Given the description of an element on the screen output the (x, y) to click on. 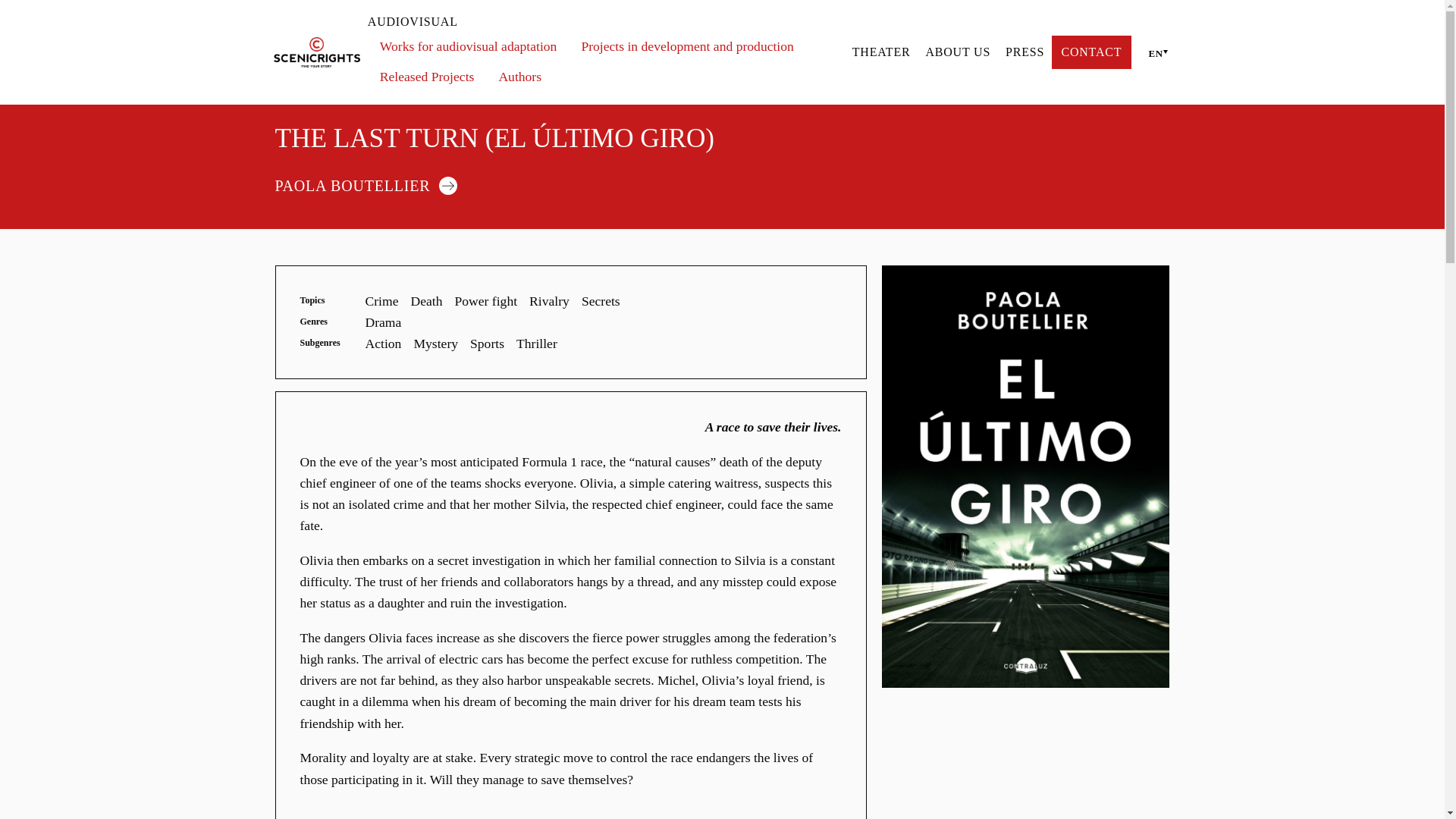
THEATER (881, 52)
PRESS (1024, 52)
AUDIOVISUAL (602, 21)
Released Projects (427, 77)
PAOLA BOUTELLIER (372, 184)
CONTACT (1091, 52)
Works for audiovisual adaptation (468, 46)
ABOUT US (957, 52)
Authors (519, 77)
Projects in development and production (687, 46)
EN (1154, 51)
